Given the description of an element on the screen output the (x, y) to click on. 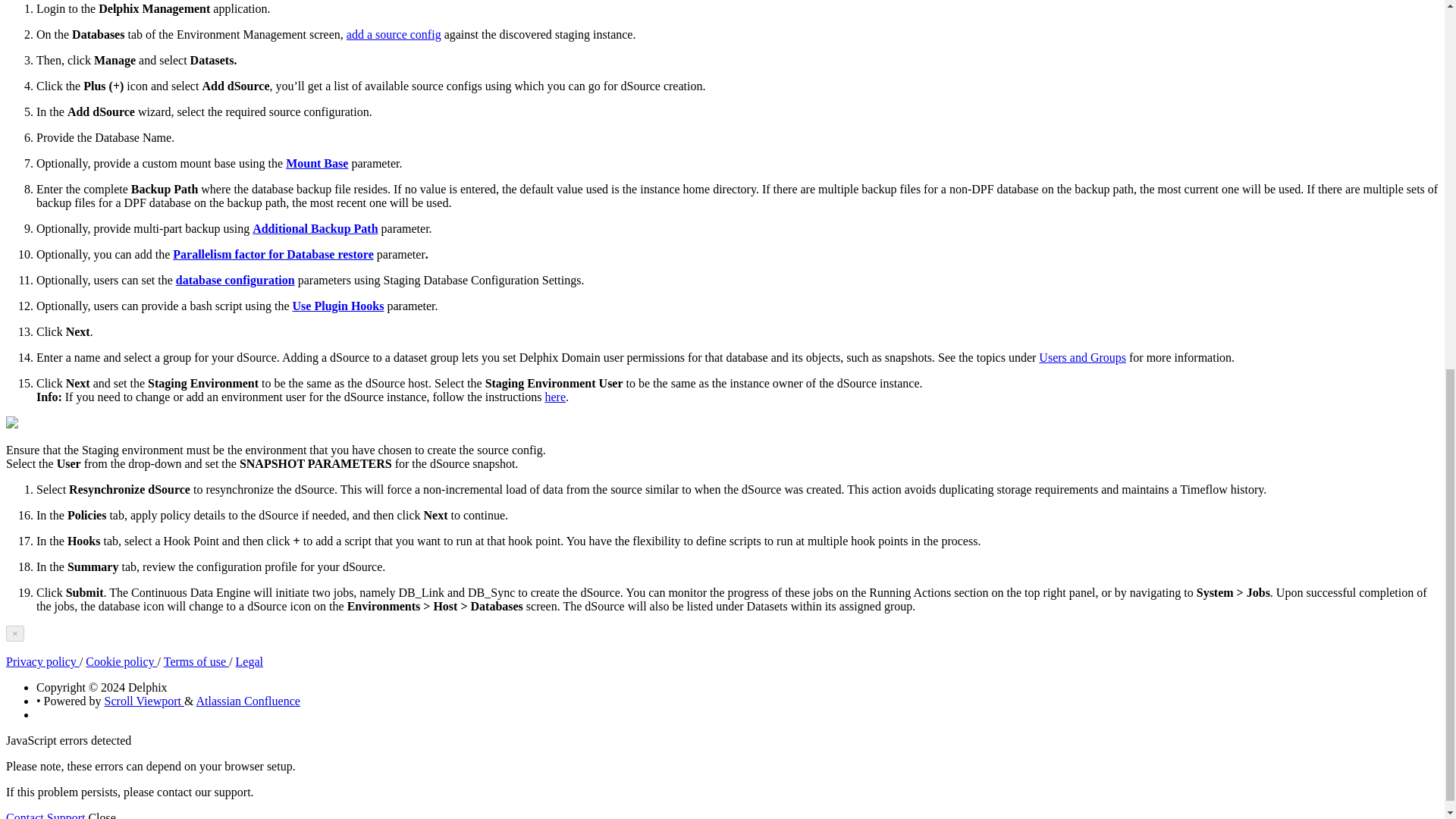
Close modal (14, 633)
Terms of use (195, 661)
Cookie policy (121, 661)
Privacy policy (42, 661)
Use Plugin Hooks (338, 305)
database configuration (235, 279)
Users and Groups (1082, 357)
Atlassian Confluence (247, 700)
Mount Base (316, 163)
Additional Backup Path (314, 228)
